Given the description of an element on the screen output the (x, y) to click on. 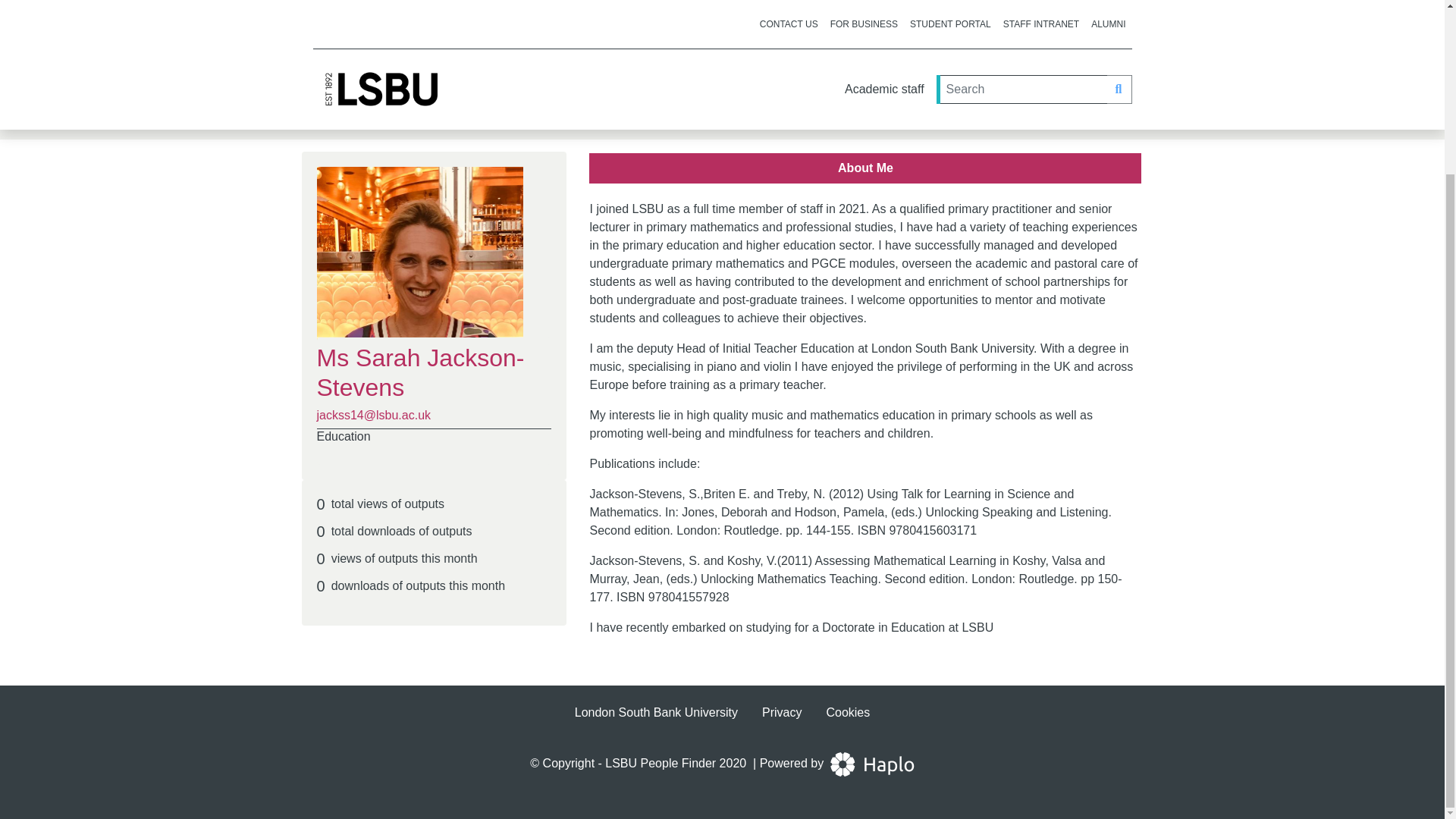
About Me (865, 168)
LSBU People Finder (660, 762)
About Me (865, 168)
Privacy (781, 711)
Cookies (847, 711)
Home (325, 107)
Academic staff (423, 107)
London South Bank University (656, 711)
